Given the description of an element on the screen output the (x, y) to click on. 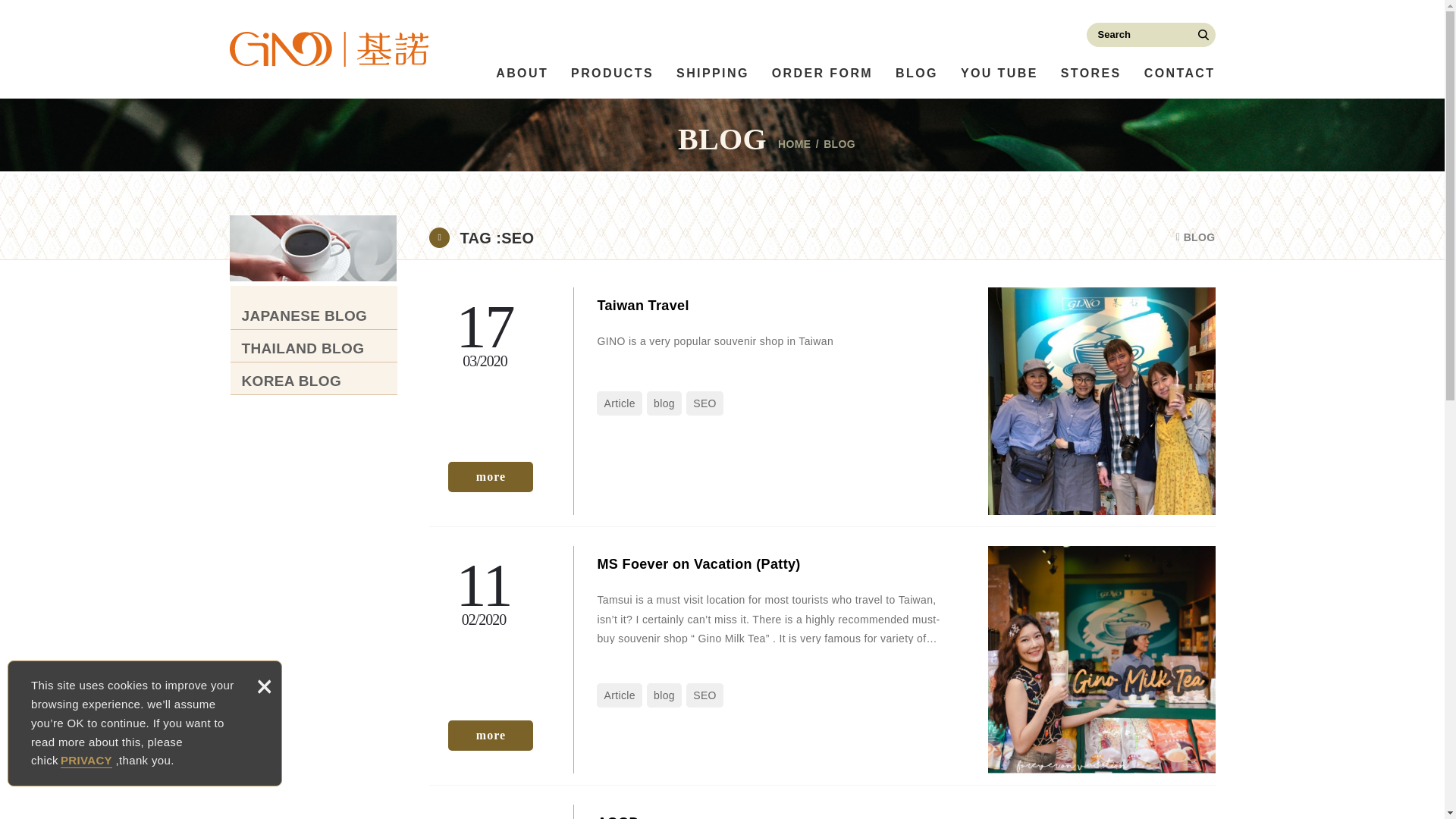
MS Foever on Vacation cover page 561 x 561.png (1100, 659)
PRIVACY (85, 759)
Search (1203, 34)
BLOG (916, 73)
GINO (328, 48)
ORDER FORM (821, 73)
PRODUCTS (611, 73)
Search (1203, 34)
ABOUT (522, 73)
SHIPPING (713, 73)
AOOD (821, 811)
Taiwan Travel (490, 476)
Search (1203, 34)
Search (1203, 34)
